Given the description of an element on the screen output the (x, y) to click on. 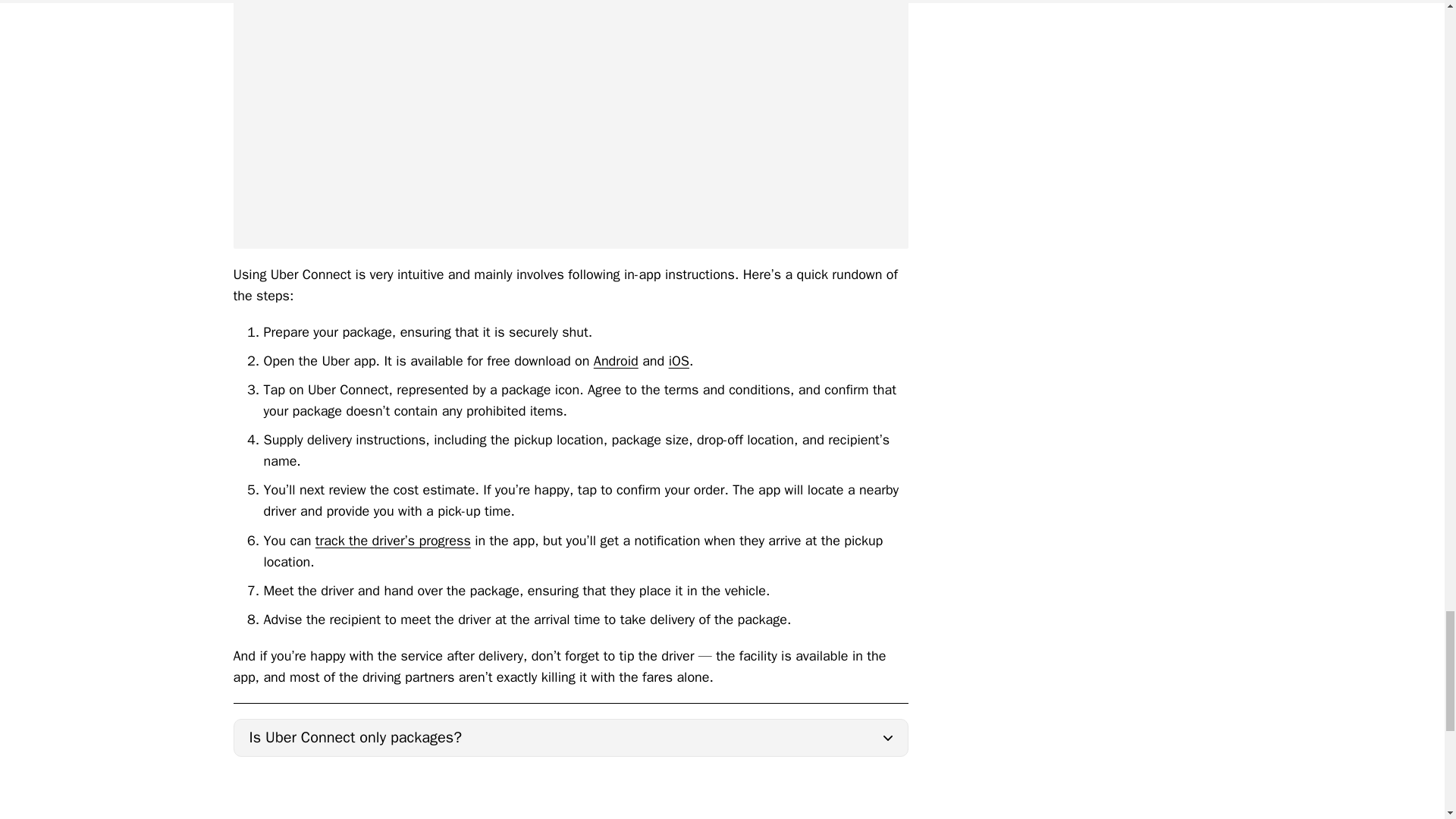
iOS (678, 360)
Android (616, 360)
Is Uber Connect only packages? (570, 737)
